Given the description of an element on the screen output the (x, y) to click on. 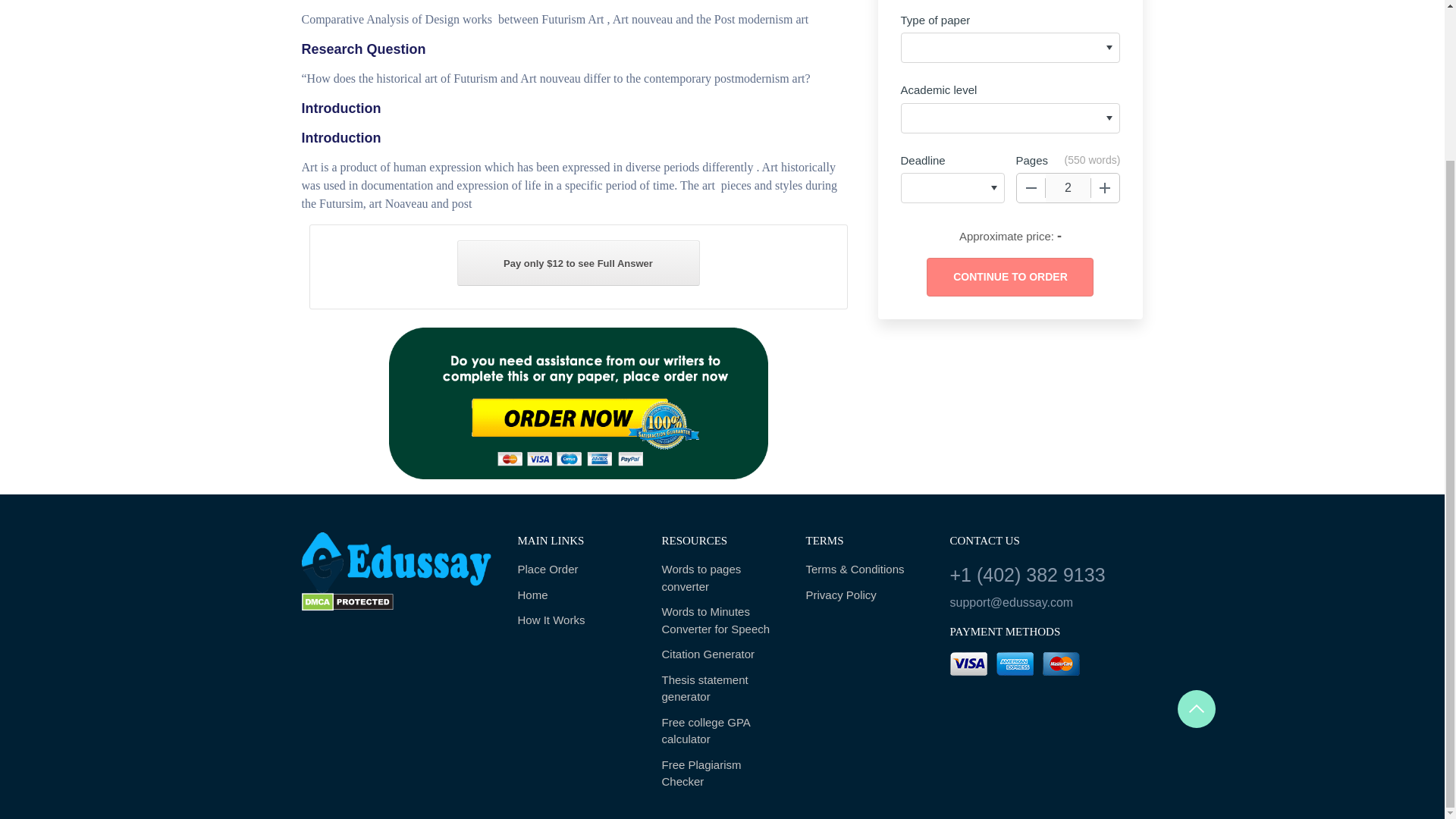
Words to pages converter (722, 578)
Words to Minutes Converter for Speech (722, 620)
Home (577, 596)
Continue to order (1009, 276)
Home (577, 596)
How It Works (577, 620)
Words to Minutes Converter for Speech (722, 620)
Thesis statement generator (722, 688)
Decrease (1030, 187)
How It Works (577, 620)
